Given the description of an element on the screen output the (x, y) to click on. 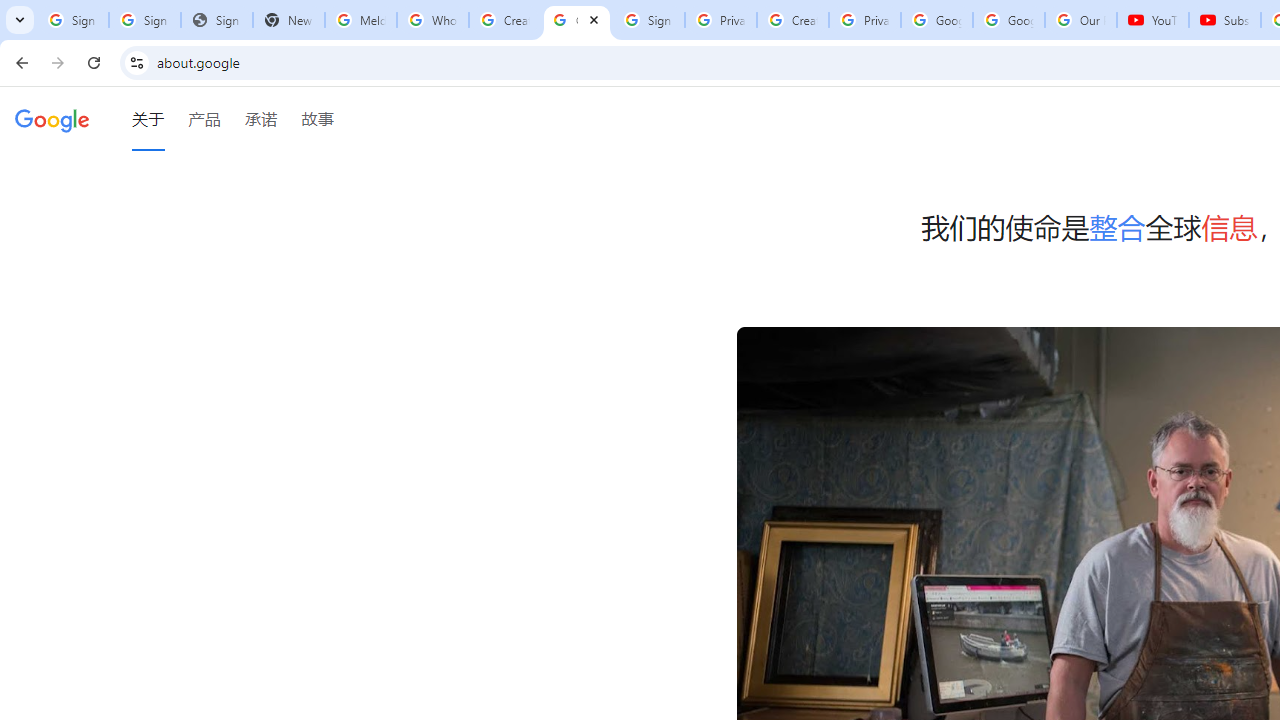
Subscriptions - YouTube (1224, 20)
Sign in - Google Accounts (144, 20)
Who is my administrator? - Google Account Help (432, 20)
New Tab (289, 20)
Create your Google Account (504, 20)
